Given the description of an element on the screen output the (x, y) to click on. 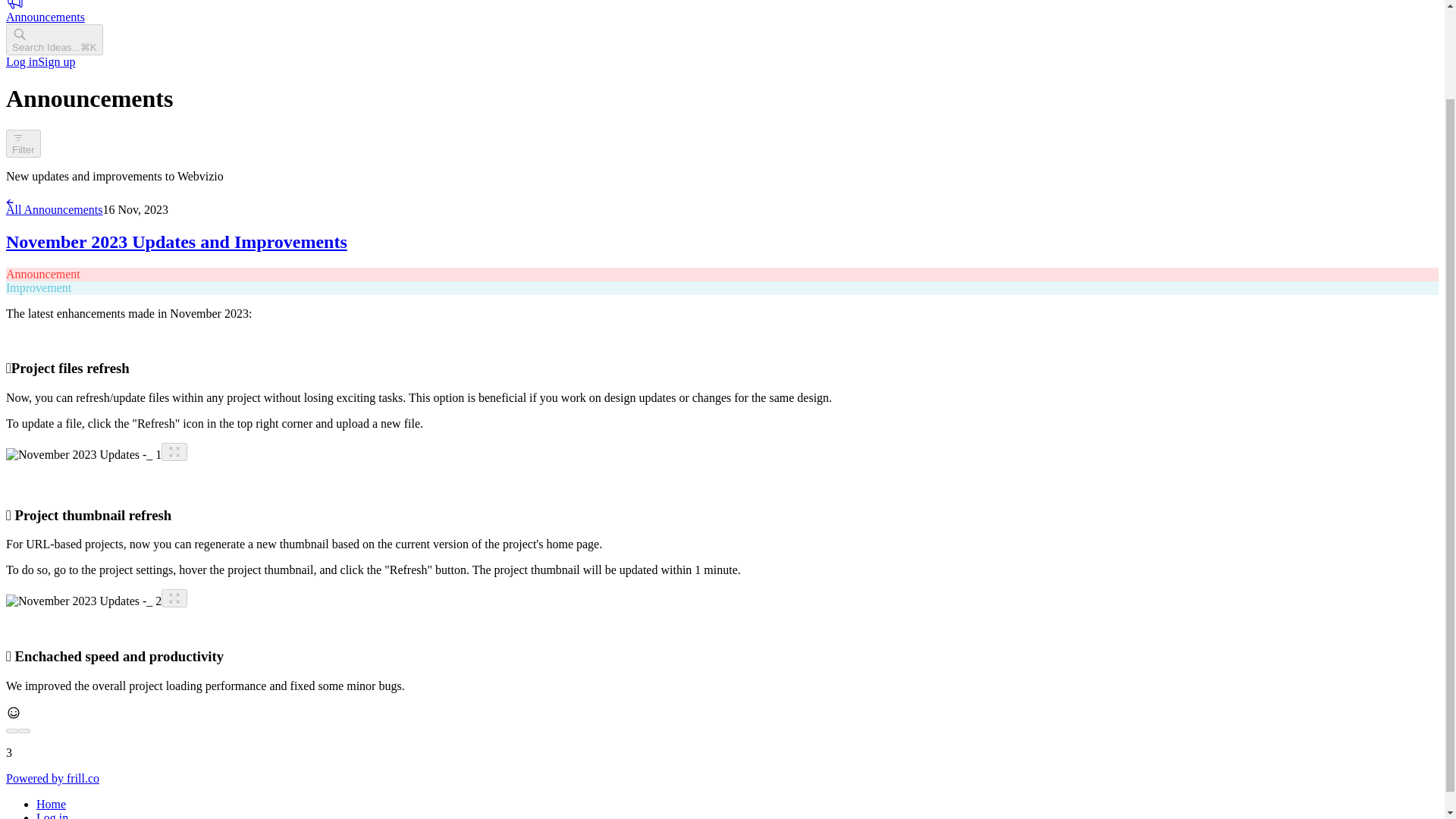
Sign up (56, 61)
Powered by frill.co (52, 778)
Log in (21, 61)
16 Nov, 2023 at 7:42 AM (135, 209)
Filter (22, 143)
